Given the description of an element on the screen output the (x, y) to click on. 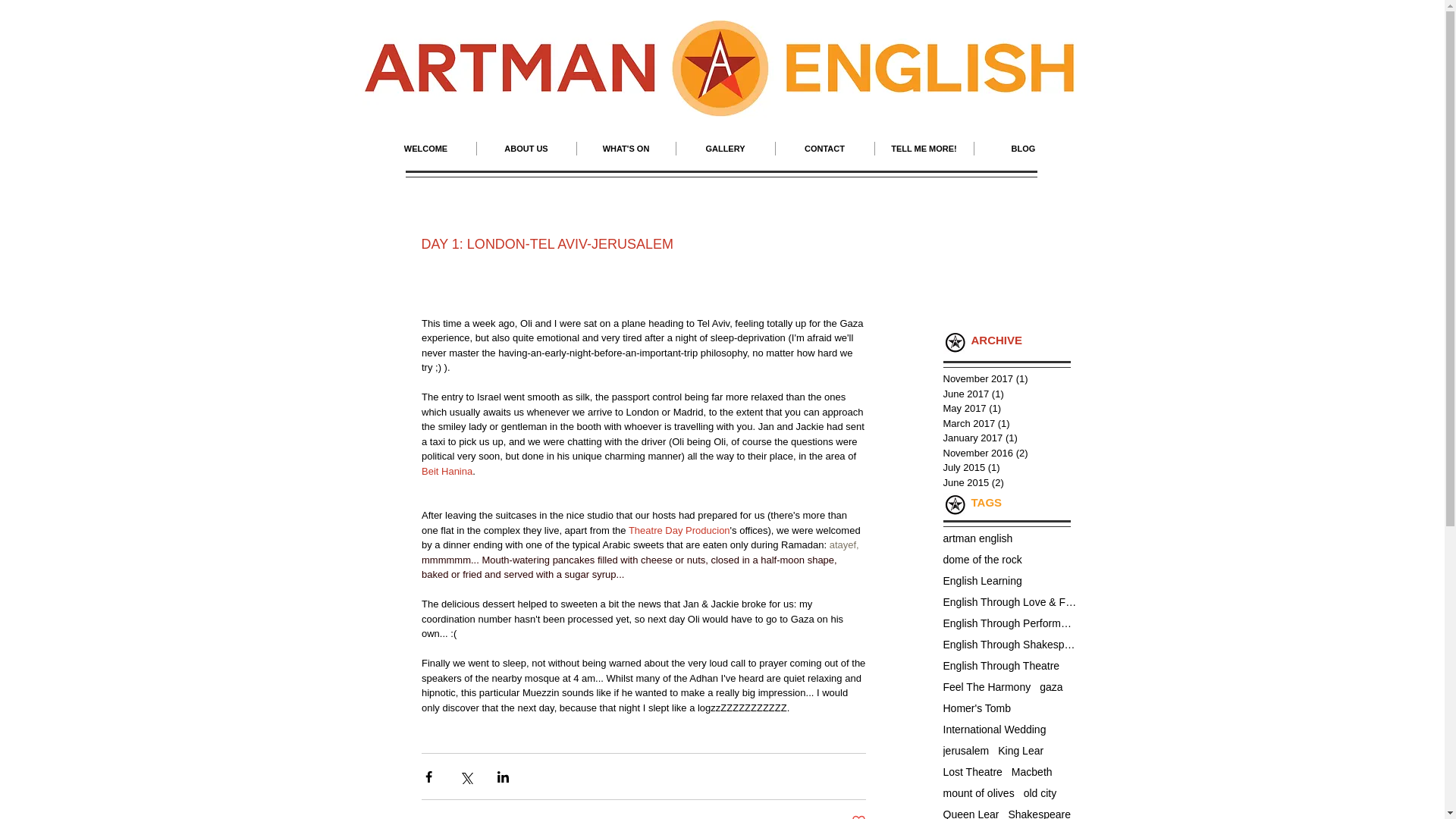
ABOUT US (525, 148)
TELL ME MORE! (924, 148)
Post not marked as liked (857, 816)
WHAT'S ON (625, 148)
English Through Theatre (1001, 665)
Feel The Harmony (986, 686)
GALLERY (725, 148)
TAGS (986, 502)
WELCOME (425, 148)
atayef,  (844, 544)
